Given the description of an element on the screen output the (x, y) to click on. 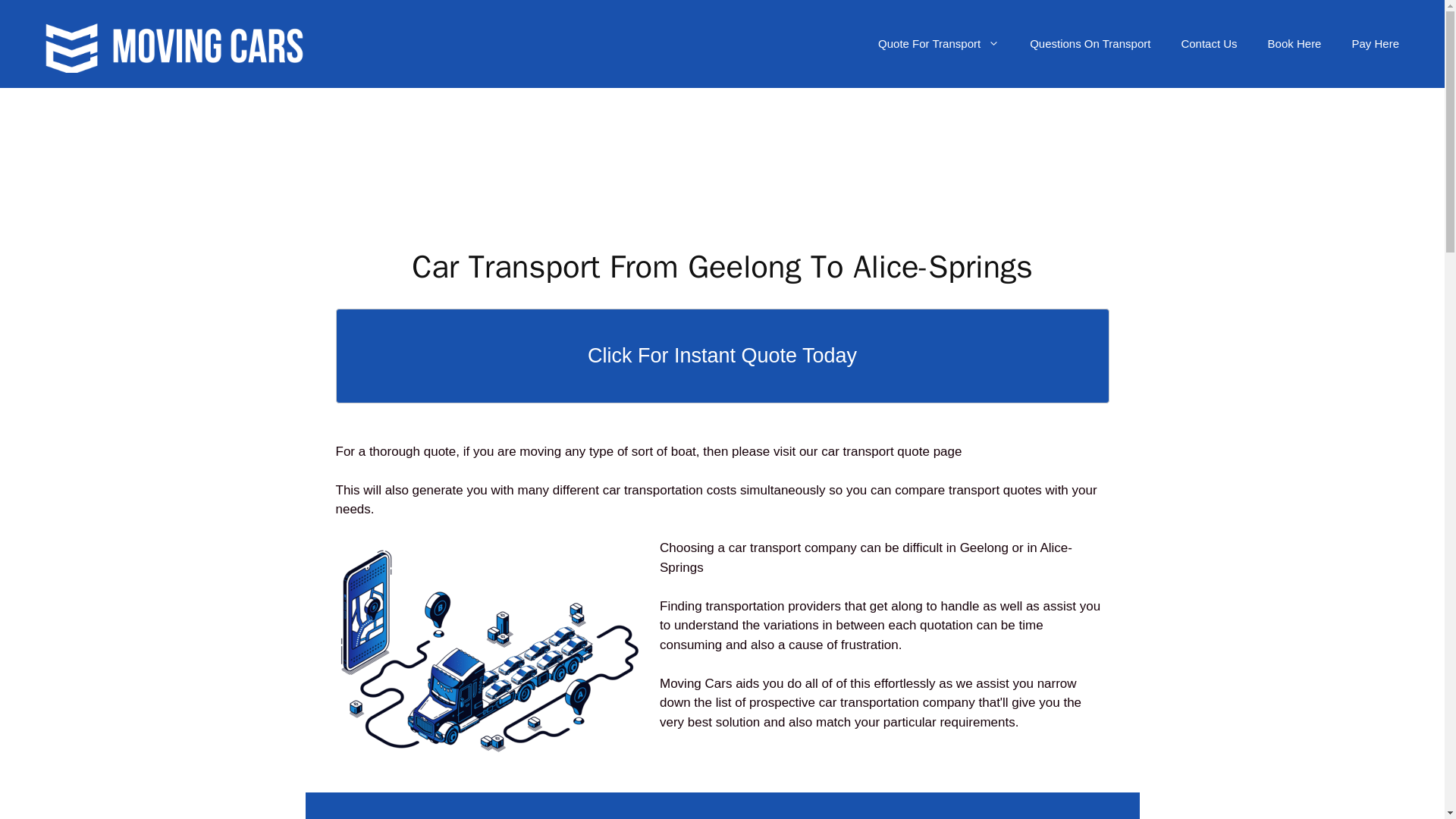
car transport quote (875, 451)
Questions On Transport (1090, 43)
Quote For Transport (938, 43)
Click For Instant Quote Today (721, 355)
Pay Here (1374, 43)
Book Here (1294, 43)
Contact Us (1209, 43)
